Given the description of an element on the screen output the (x, y) to click on. 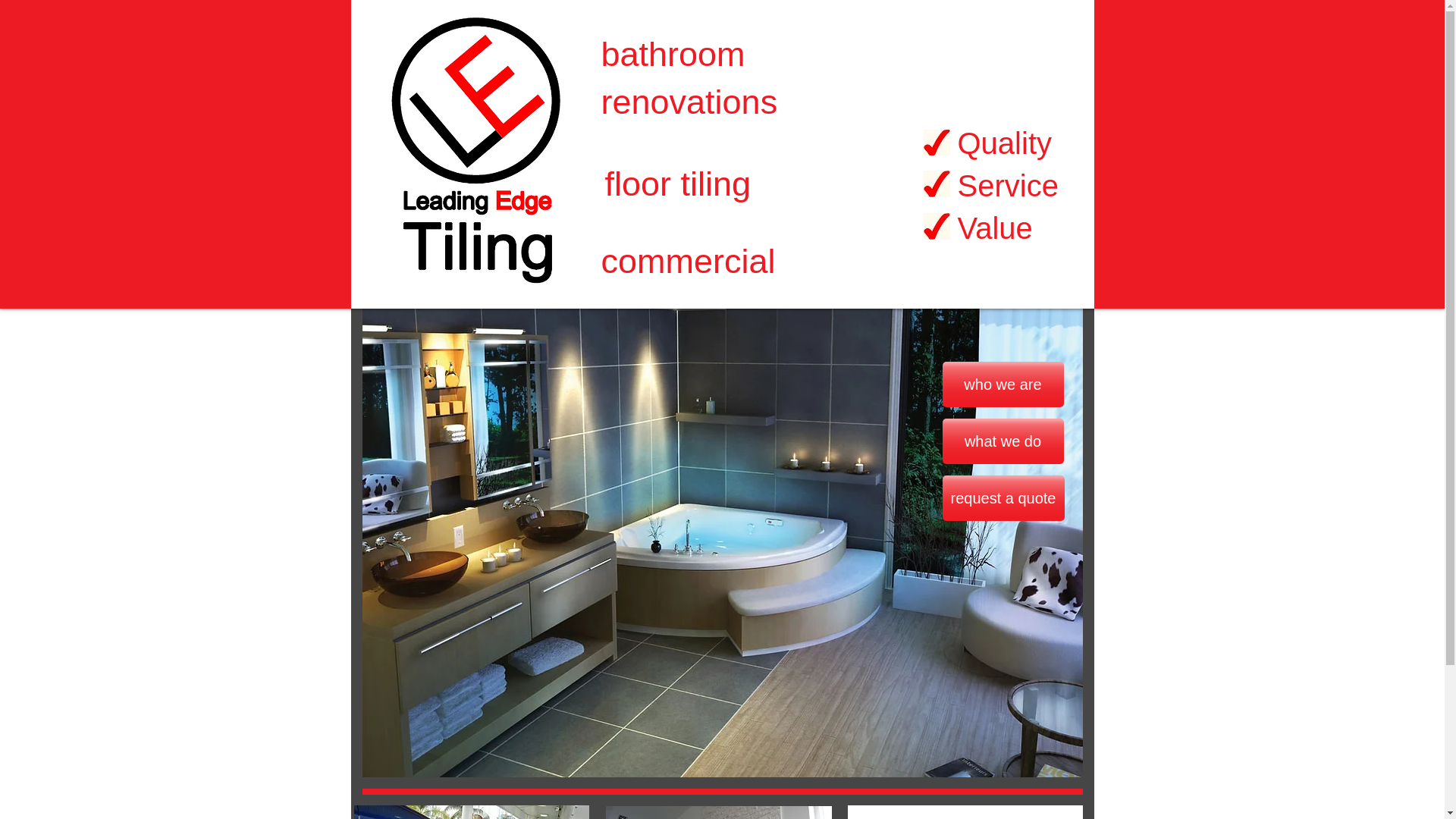
what we do Element type: text (1002, 441)
Facebook Like Element type: hover (1001, 277)
Embedded Content Element type: hover (813, 390)
who we are Element type: text (1002, 384)
request a quote Element type: text (1002, 497)
